Given the description of an element on the screen output the (x, y) to click on. 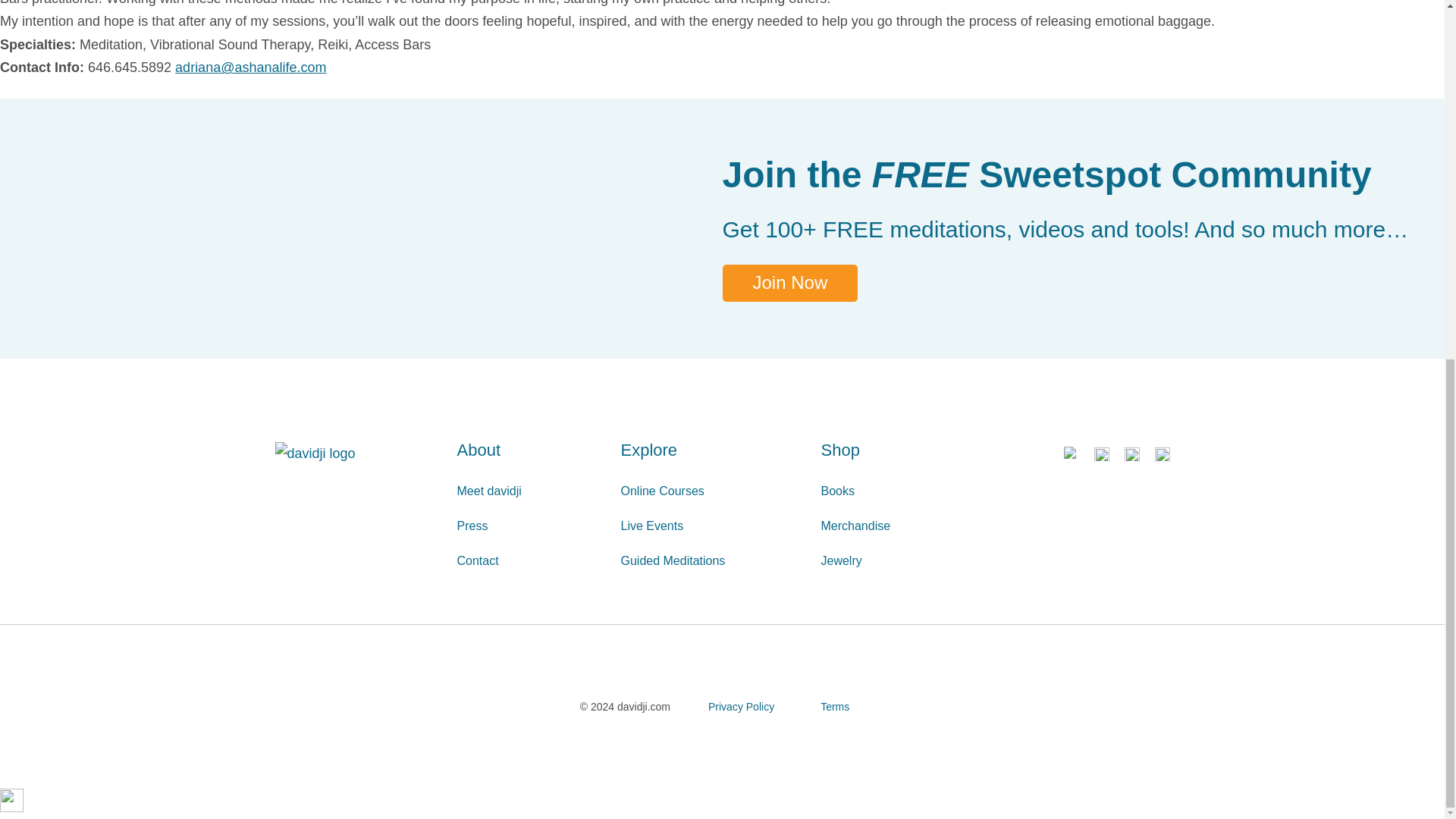
LiveInternet (11, 800)
Jewelry (904, 560)
Guided Meditations (712, 560)
Meet davidji (531, 491)
Join Now (789, 283)
Live Events (712, 525)
Books (904, 491)
Online Courses (712, 491)
Contact (531, 560)
Merchandise (904, 525)
Press (531, 525)
